Given the description of an element on the screen output the (x, y) to click on. 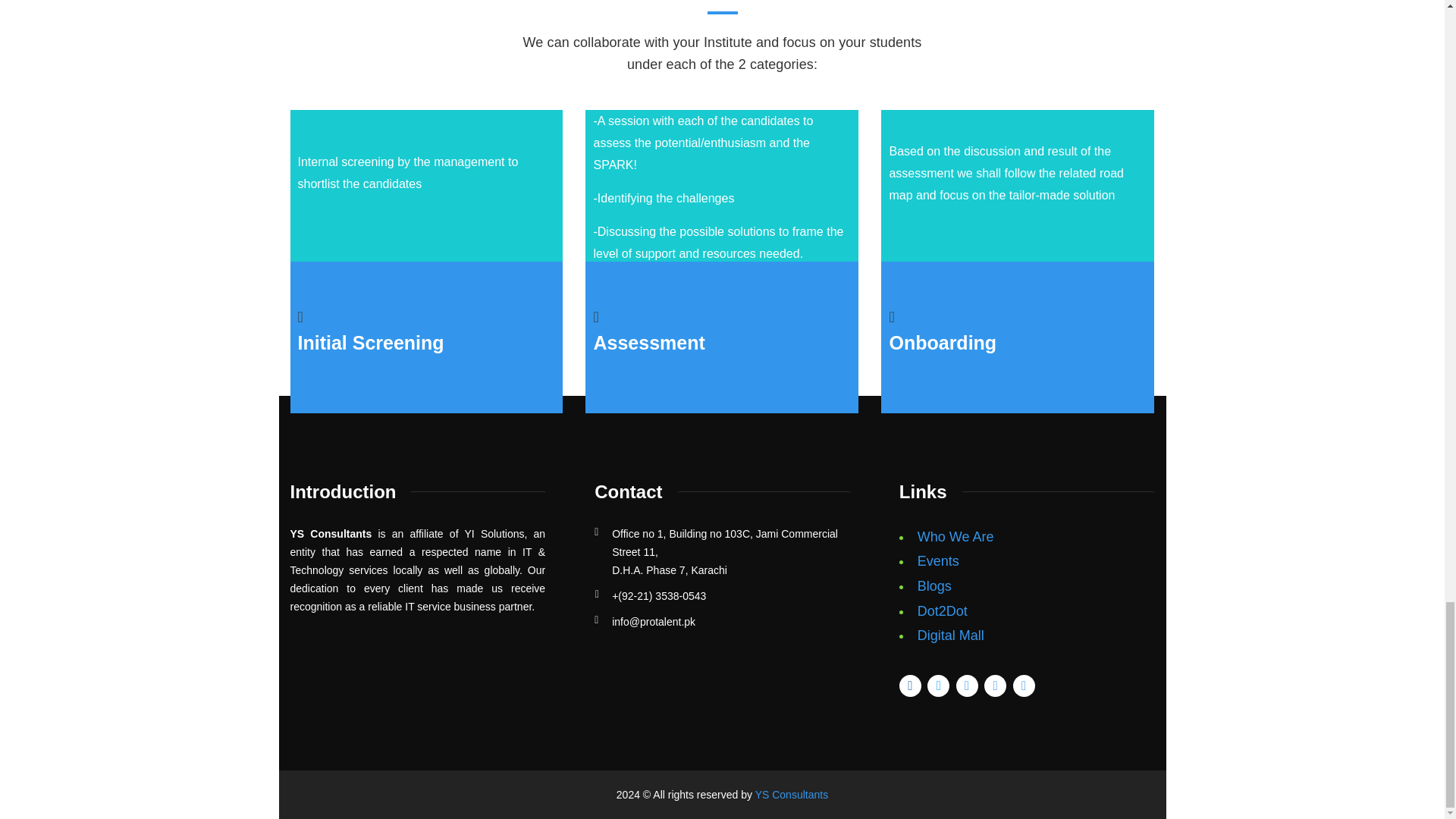
Events (938, 560)
Who We Are (955, 536)
Who We Are (955, 536)
DM (950, 635)
Dot2Dot (942, 611)
Digital Mall (950, 635)
Blogs (934, 585)
YS Consultants (791, 794)
D2D (942, 611)
Events (938, 560)
Blogs (934, 585)
